Given the description of an element on the screen output the (x, y) to click on. 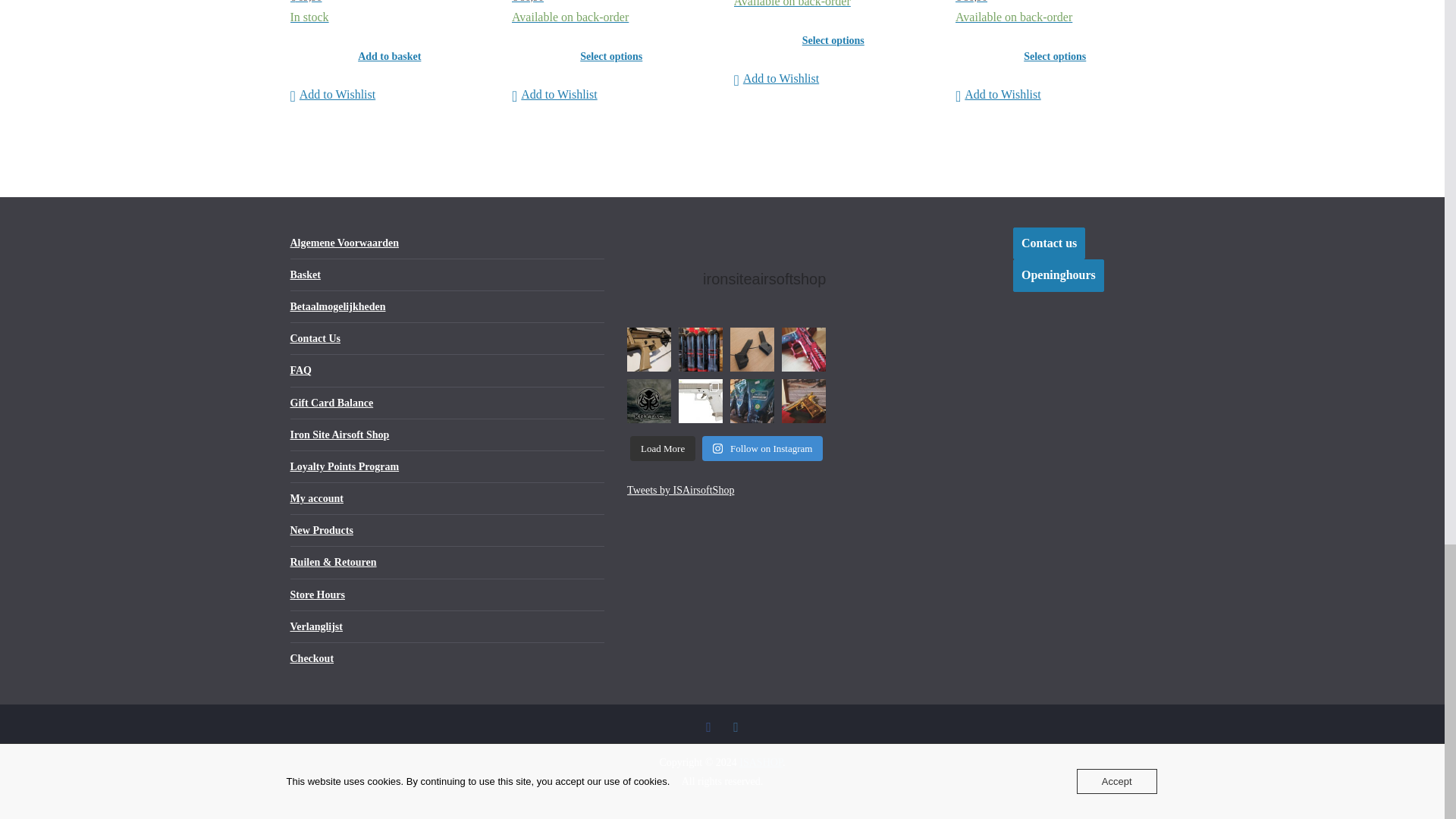
ISASHOP (761, 762)
